Given the description of an element on the screen output the (x, y) to click on. 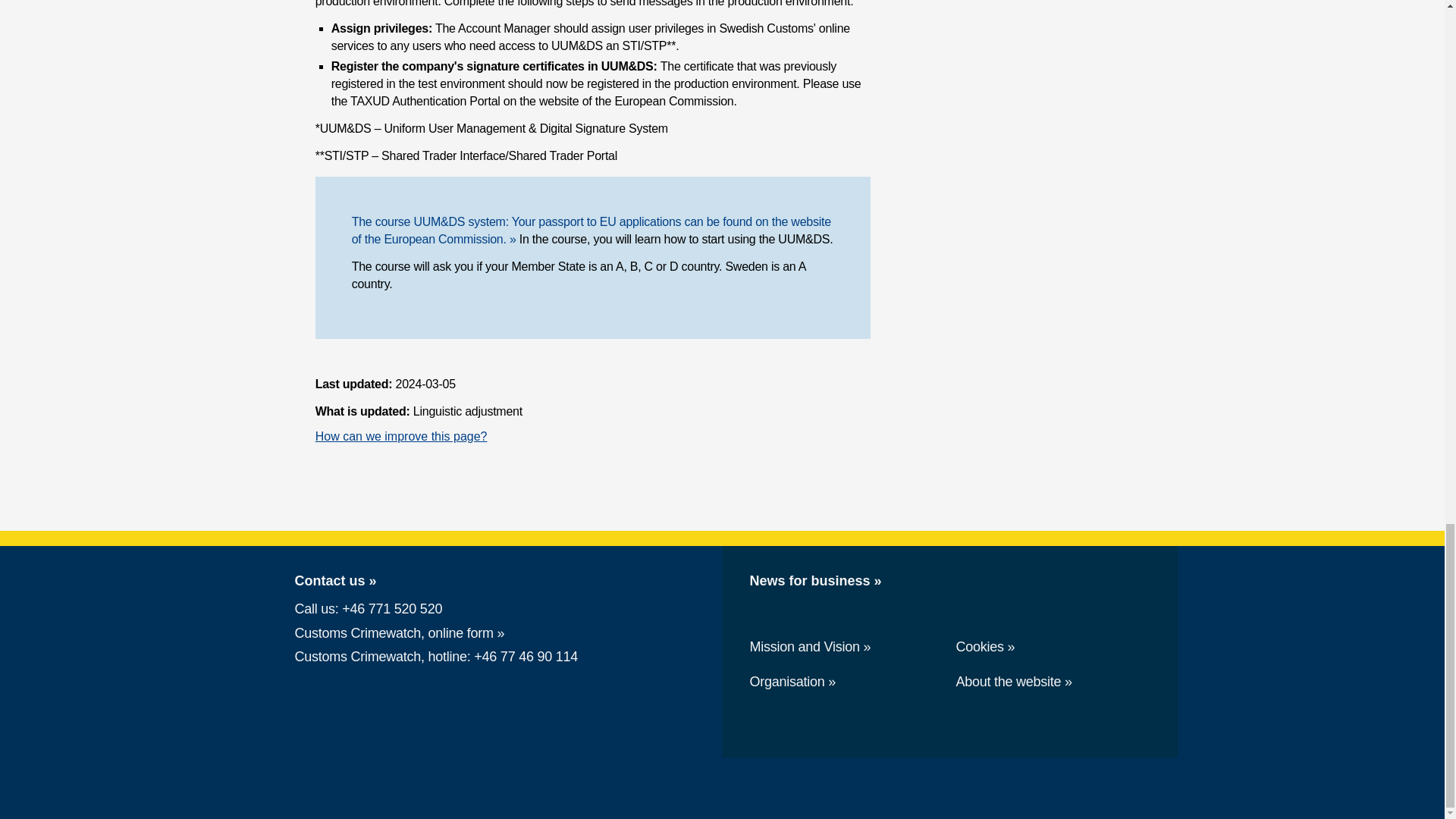
How can we improve this page? (401, 436)
Send (353, 655)
